Given the description of an element on the screen output the (x, y) to click on. 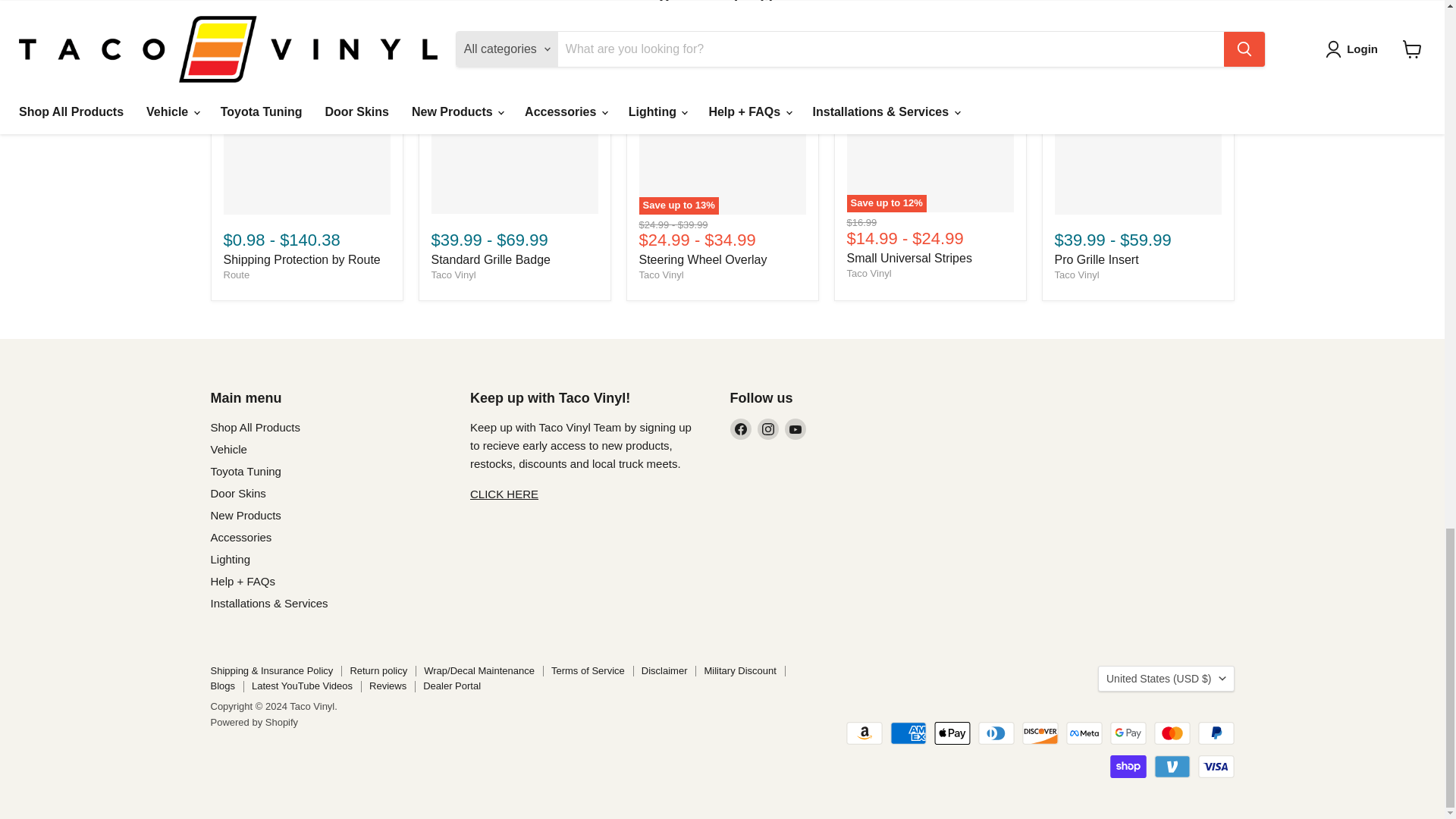
Taco Vinyl (660, 274)
Taco Vinyl (868, 273)
CLICK HERE (504, 493)
Taco Vinyl (453, 274)
Instagram (767, 428)
Taco Vinyl (1076, 274)
Route (235, 274)
Facebook (740, 428)
YouTube (794, 428)
